Given the description of an element on the screen output the (x, y) to click on. 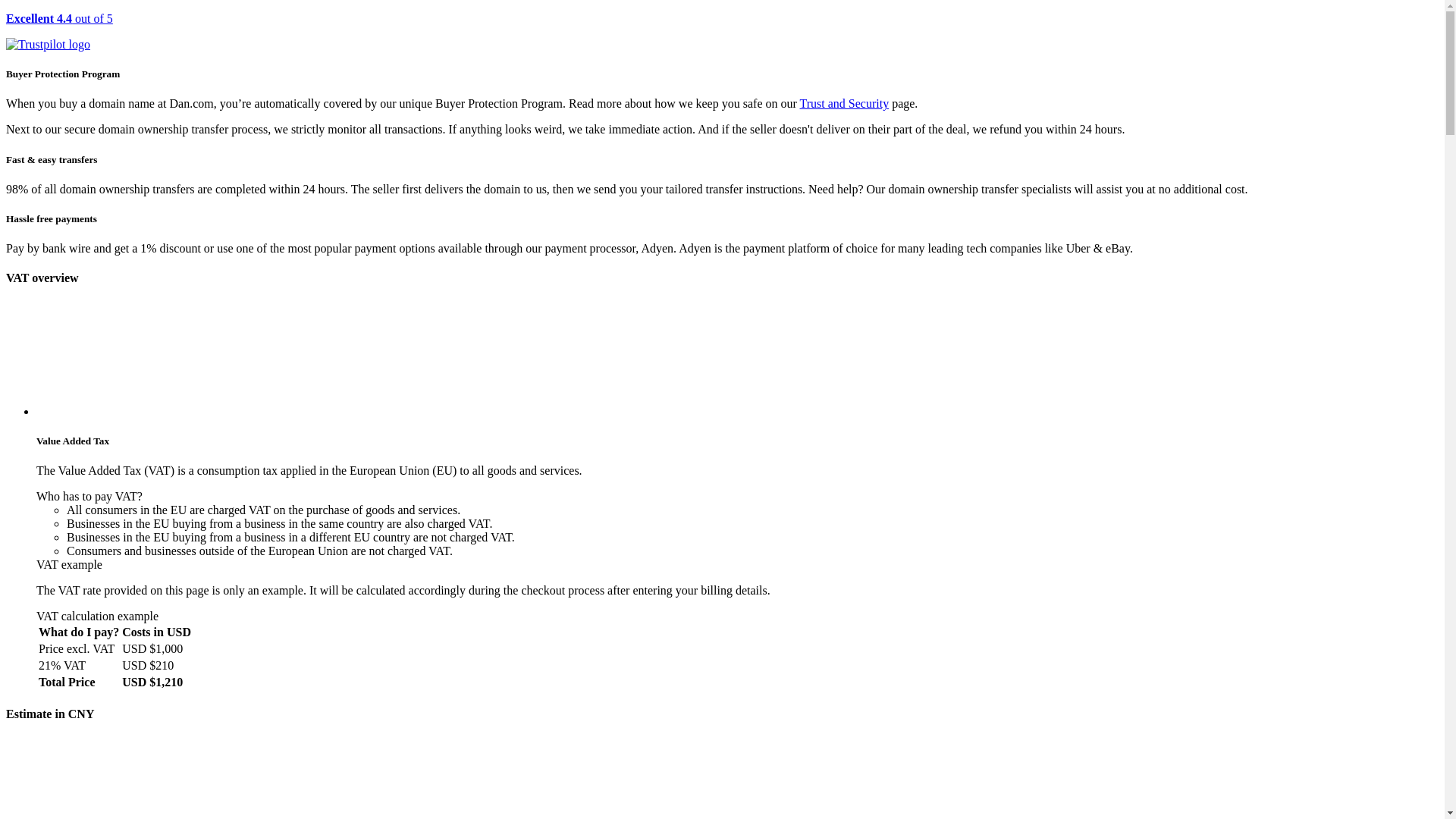
Trust and Security Element type: text (844, 103)
Excellent 4.4 out of 5 Element type: text (722, 31)
